Given the description of an element on the screen output the (x, y) to click on. 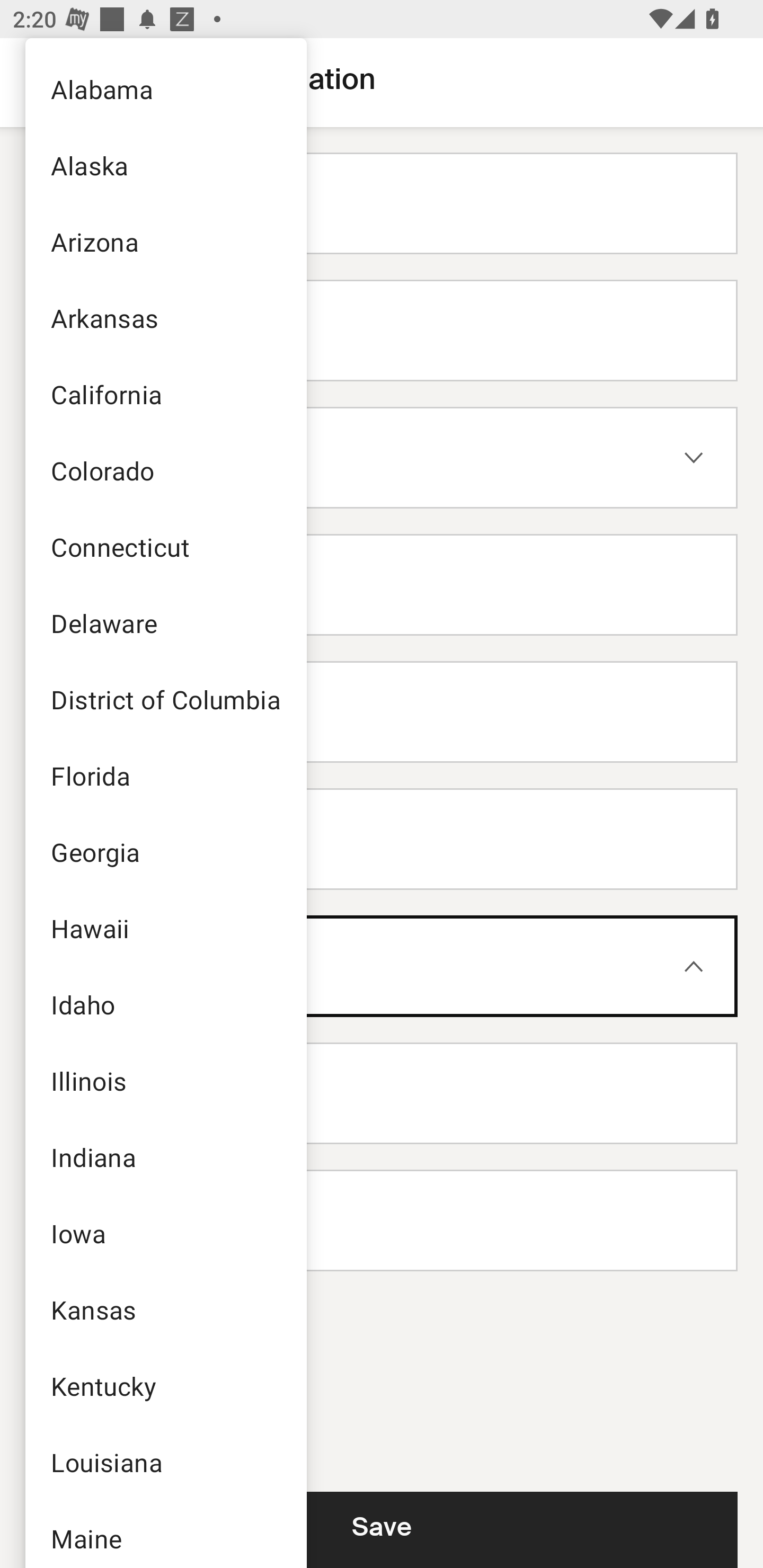
Alabama (165, 88)
Alaska (165, 165)
Arizona (165, 241)
Arkansas (165, 317)
California (165, 393)
Colorado (165, 470)
Connecticut (165, 546)
Delaware (165, 622)
District of Columbia (165, 698)
Florida (165, 774)
Georgia (165, 851)
Hawaii (165, 927)
Idaho (165, 1003)
Illinois (165, 1080)
Indiana (165, 1156)
Iowa (165, 1232)
Kansas (165, 1308)
Kentucky (165, 1384)
Louisiana (165, 1461)
Maine (165, 1534)
